Given the description of an element on the screen output the (x, y) to click on. 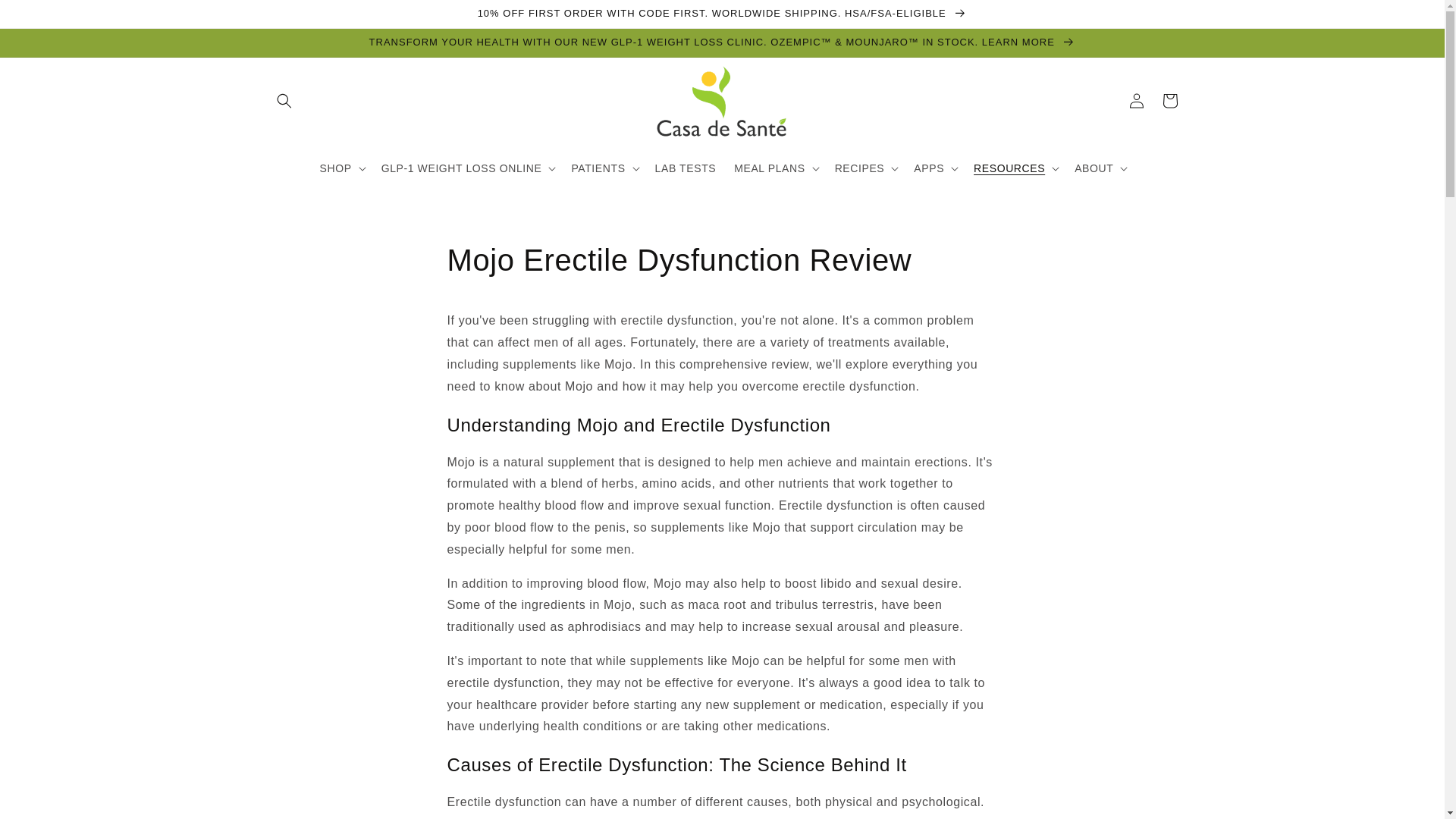
Skip to content (46, 18)
